Given the description of an element on the screen output the (x, y) to click on. 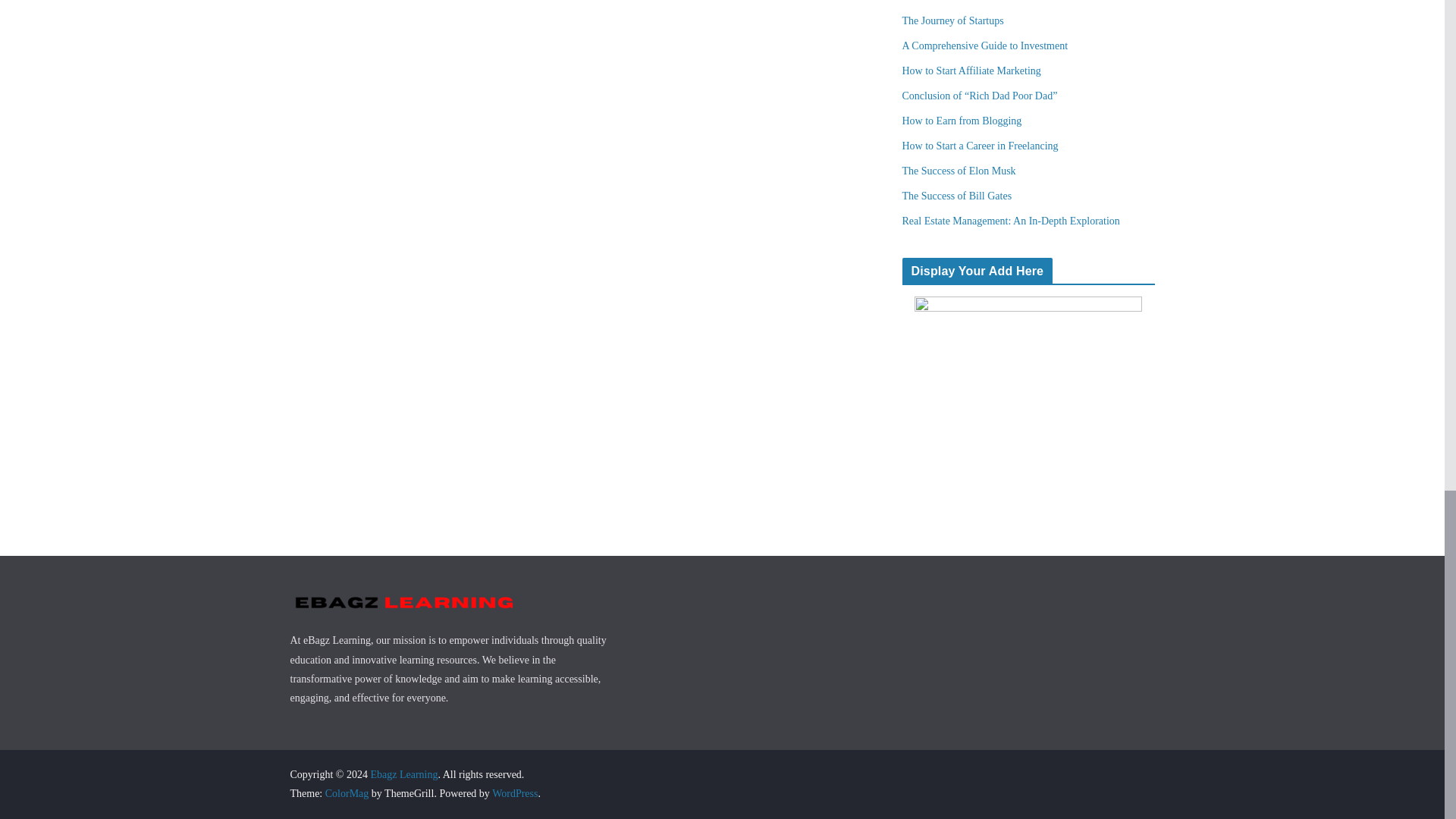
The Success of Bill Gates (956, 195)
How to Start a Career in Freelancing (980, 145)
Ebagz Learning (403, 774)
The Success of Elon Musk (959, 170)
The Journey of Startups (953, 20)
Real Estate Management: An In-Depth Exploration (1010, 220)
ColorMag (346, 793)
How to Earn from Blogging (962, 120)
How to Start Affiliate Marketing (971, 70)
A Comprehensive Guide to Investment (985, 45)
